Given the description of an element on the screen output the (x, y) to click on. 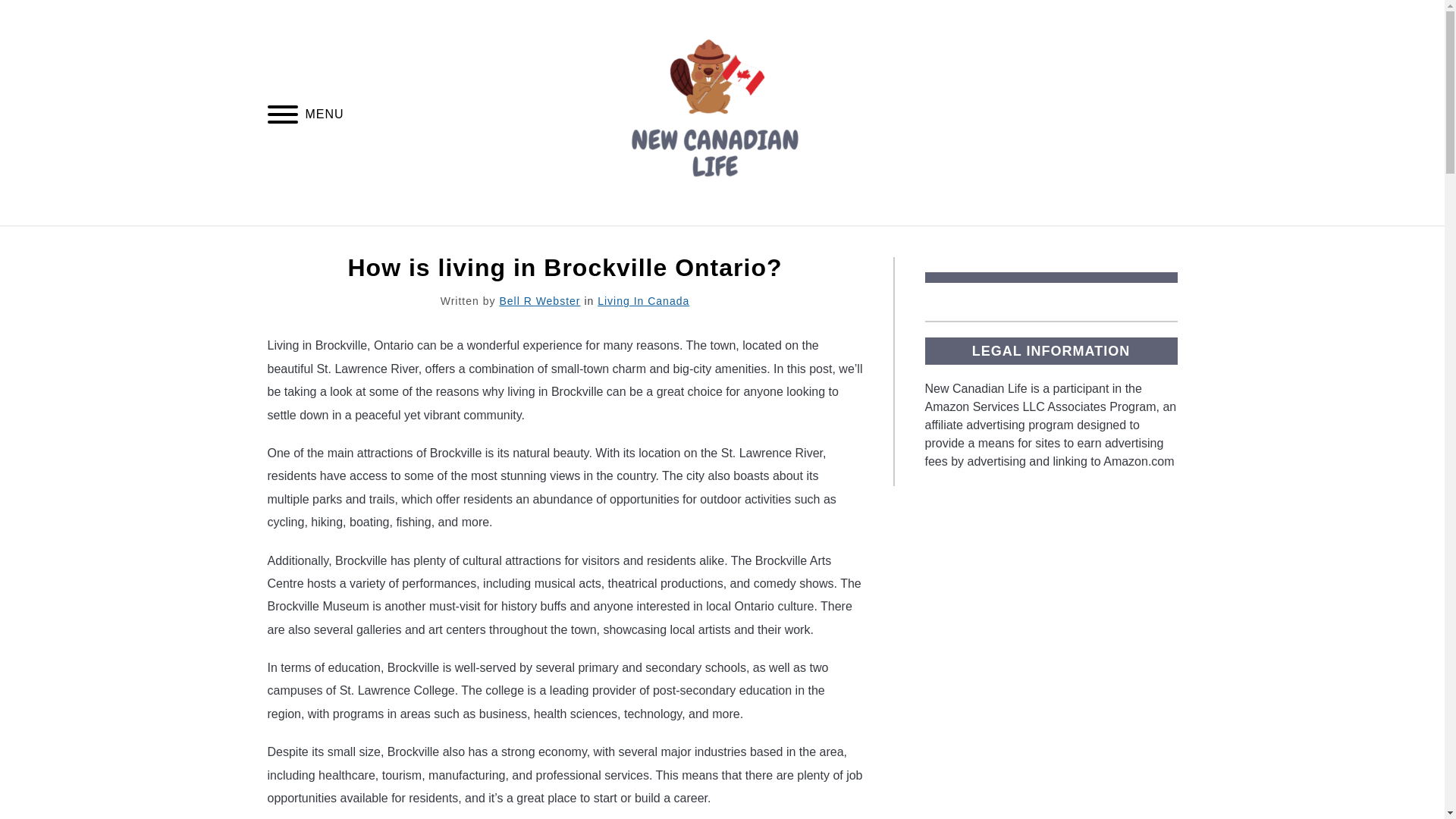
Bell R Webster (539, 300)
MOVING (949, 243)
Living In Canada (642, 300)
FREE CREDIT SCORE (551, 243)
Search (1172, 112)
FIND YOUR NOC FOR FREE (359, 243)
PROVINCES (849, 243)
STUDYING (1140, 243)
LIVING IN CANADA (715, 243)
MENU (282, 116)
WORKING (1041, 243)
